Given the description of an element on the screen output the (x, y) to click on. 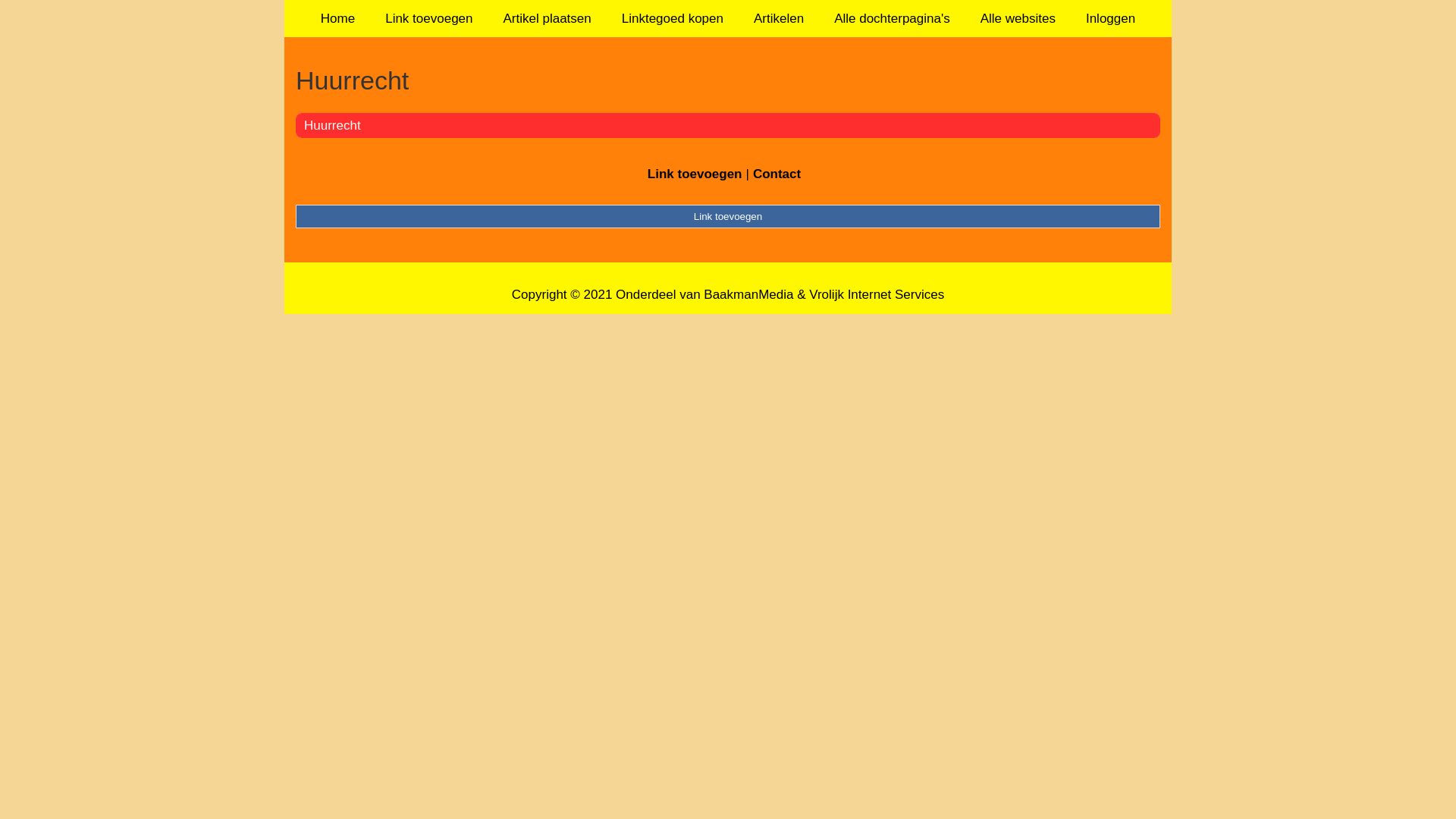
Home Element type: text (337, 18)
Alle websites Element type: text (1017, 18)
Huurrecht Element type: text (332, 125)
Contact Element type: text (776, 173)
Artikelen Element type: text (778, 18)
Link toevoegen Element type: text (428, 18)
Inloggen Element type: text (1110, 18)
BaakmanMedia Element type: text (748, 294)
Link toevoegen Element type: text (694, 173)
Vrolijk Internet Services Element type: text (876, 294)
Link toevoegen Element type: text (727, 215)
Artikel plaatsen Element type: text (547, 18)
Huurrecht Element type: text (727, 80)
Alle dochterpagina's Element type: text (892, 18)
Linktegoed kopen Element type: text (672, 18)
